Given the description of an element on the screen output the (x, y) to click on. 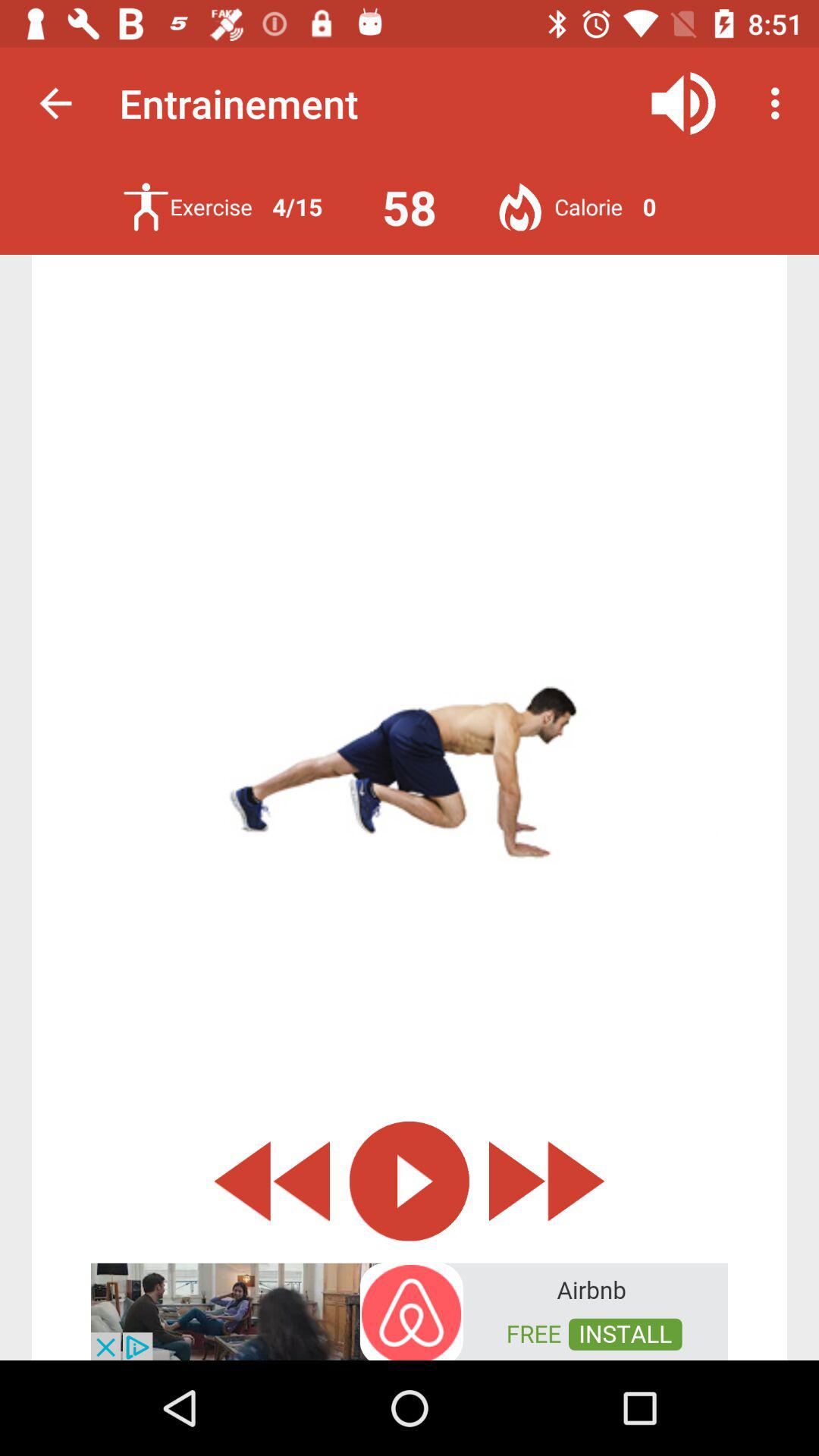
sound (683, 103)
